Given the description of an element on the screen output the (x, y) to click on. 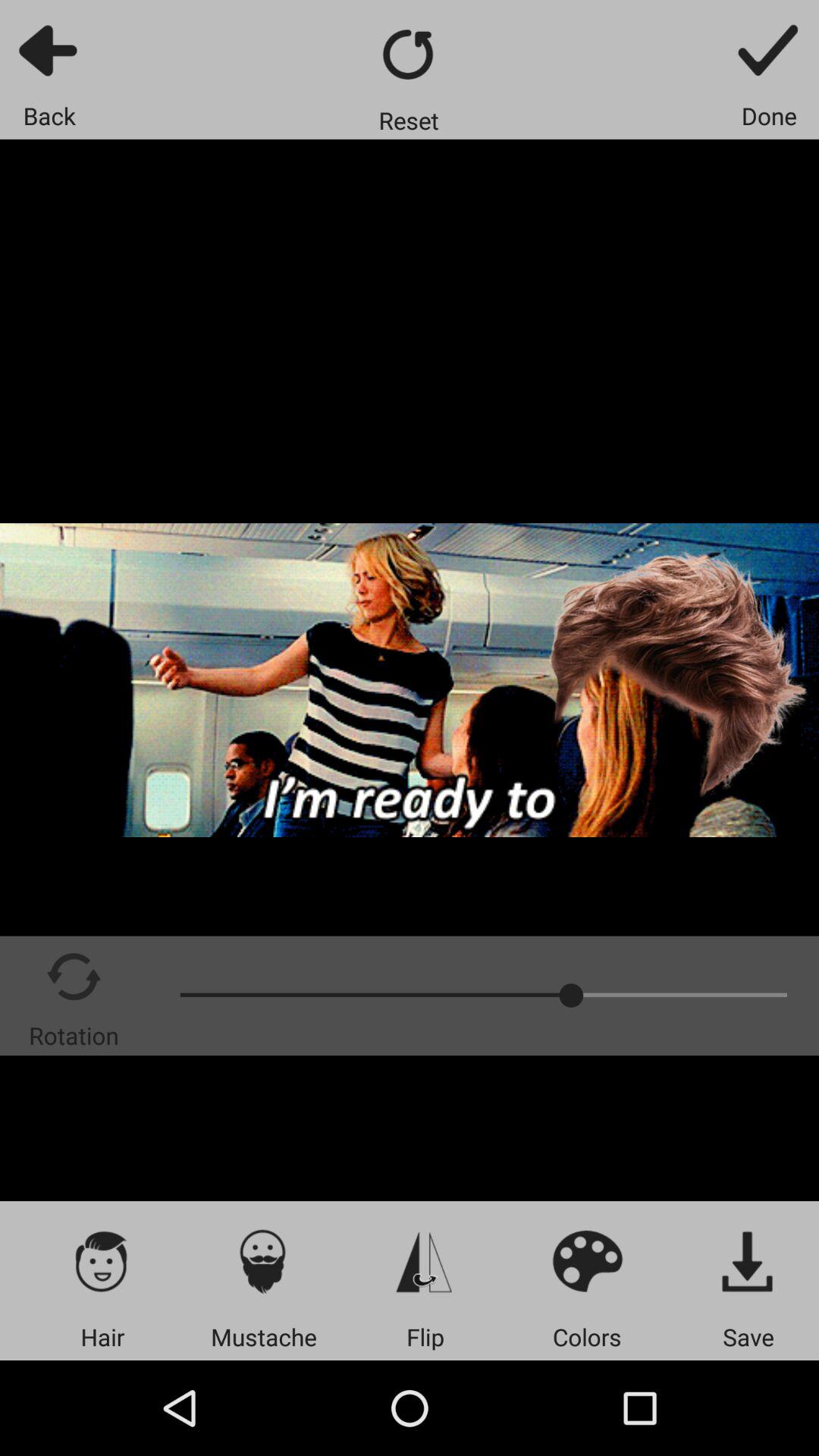
mustache photo edit (263, 1260)
